Given the description of an element on the screen output the (x, y) to click on. 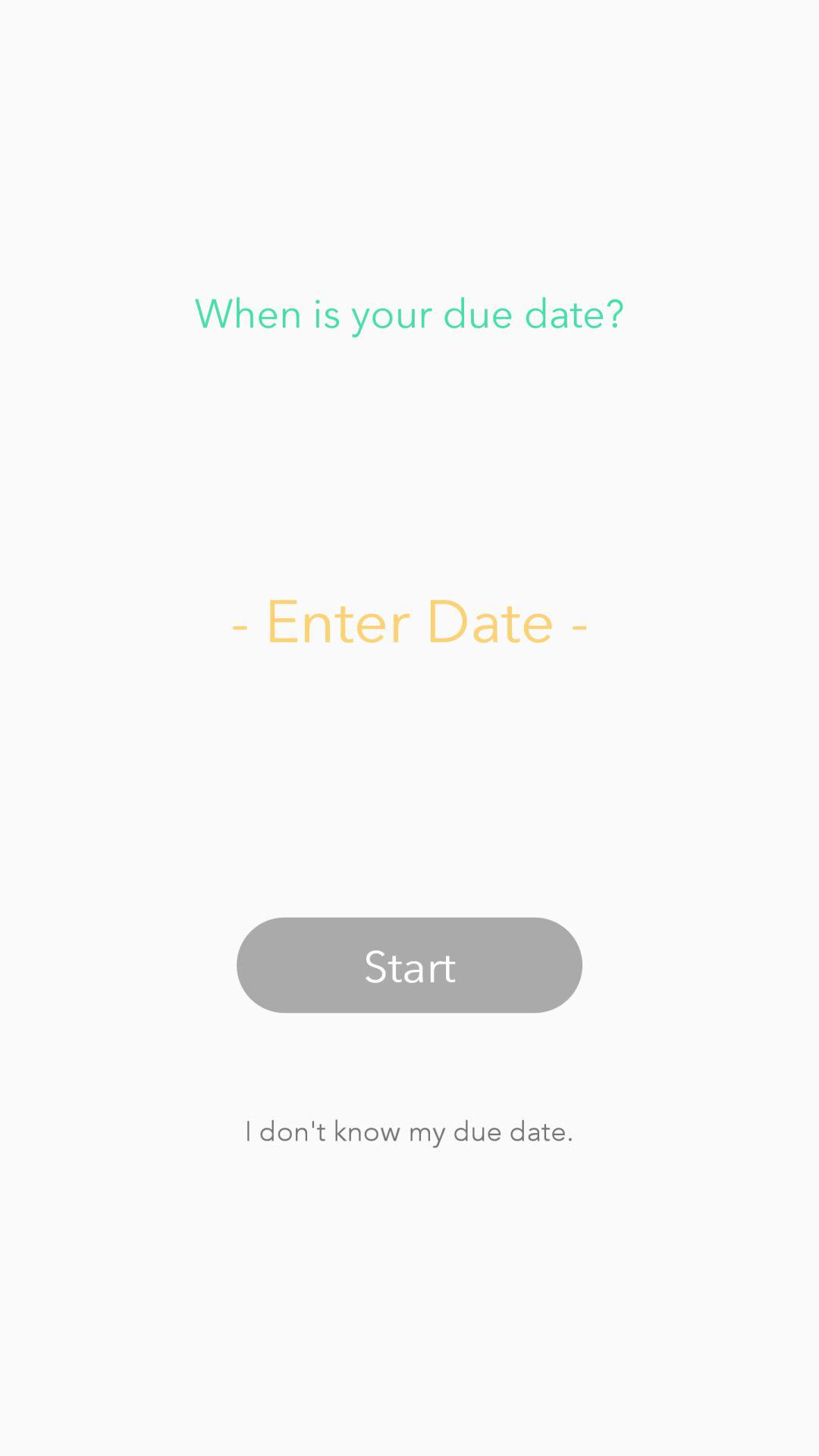
open the icon above the i don t (409, 964)
